Given the description of an element on the screen output the (x, y) to click on. 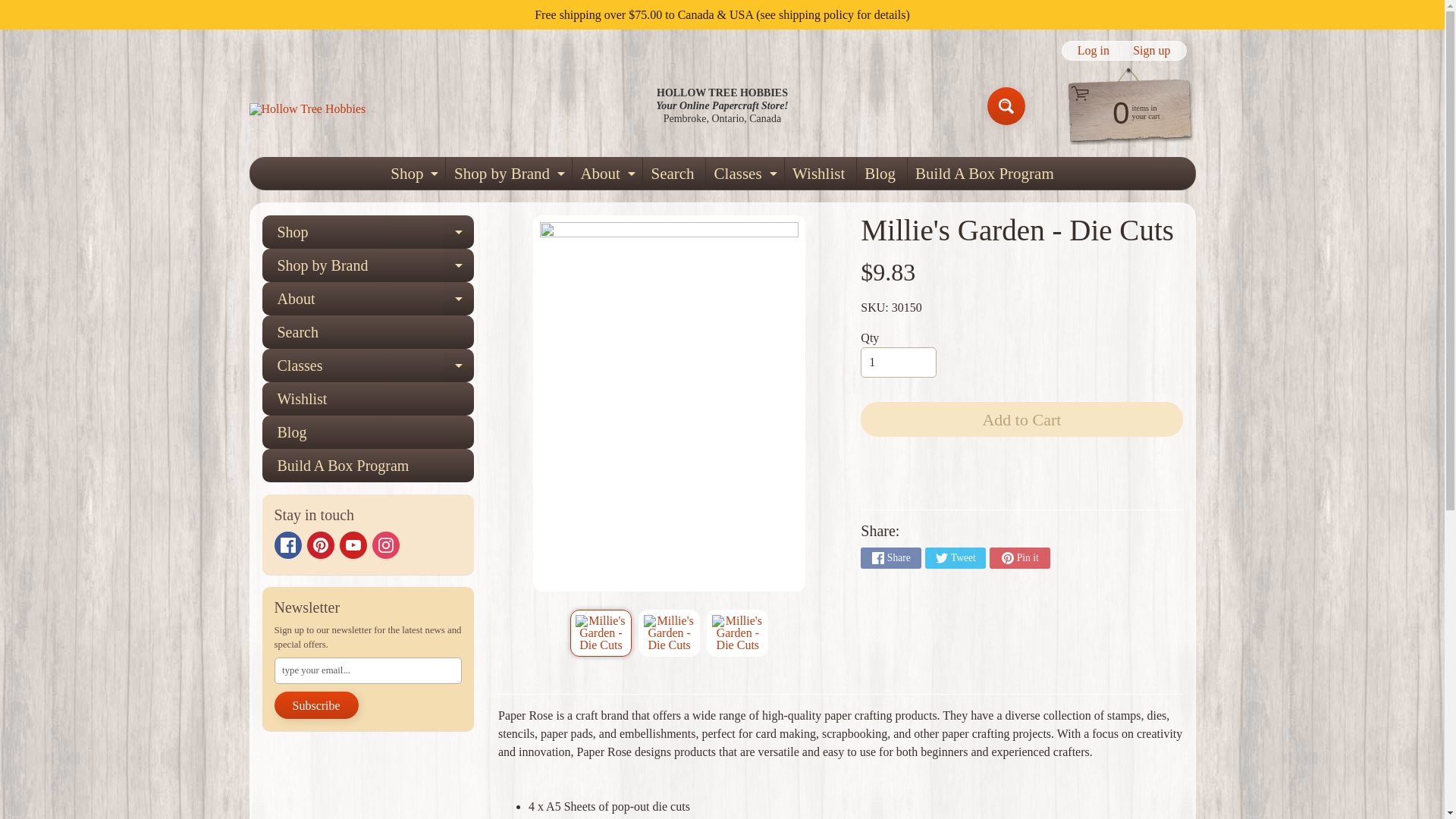
1 (898, 362)
Search (1006, 105)
Youtube (352, 544)
Sign up (412, 173)
Share on Facebook (1151, 50)
Pin on Pinterest (890, 557)
Millie's Garden - Die Cuts (1019, 557)
Tweet on Twitter (737, 632)
Log in (954, 557)
